Given the description of an element on the screen output the (x, y) to click on. 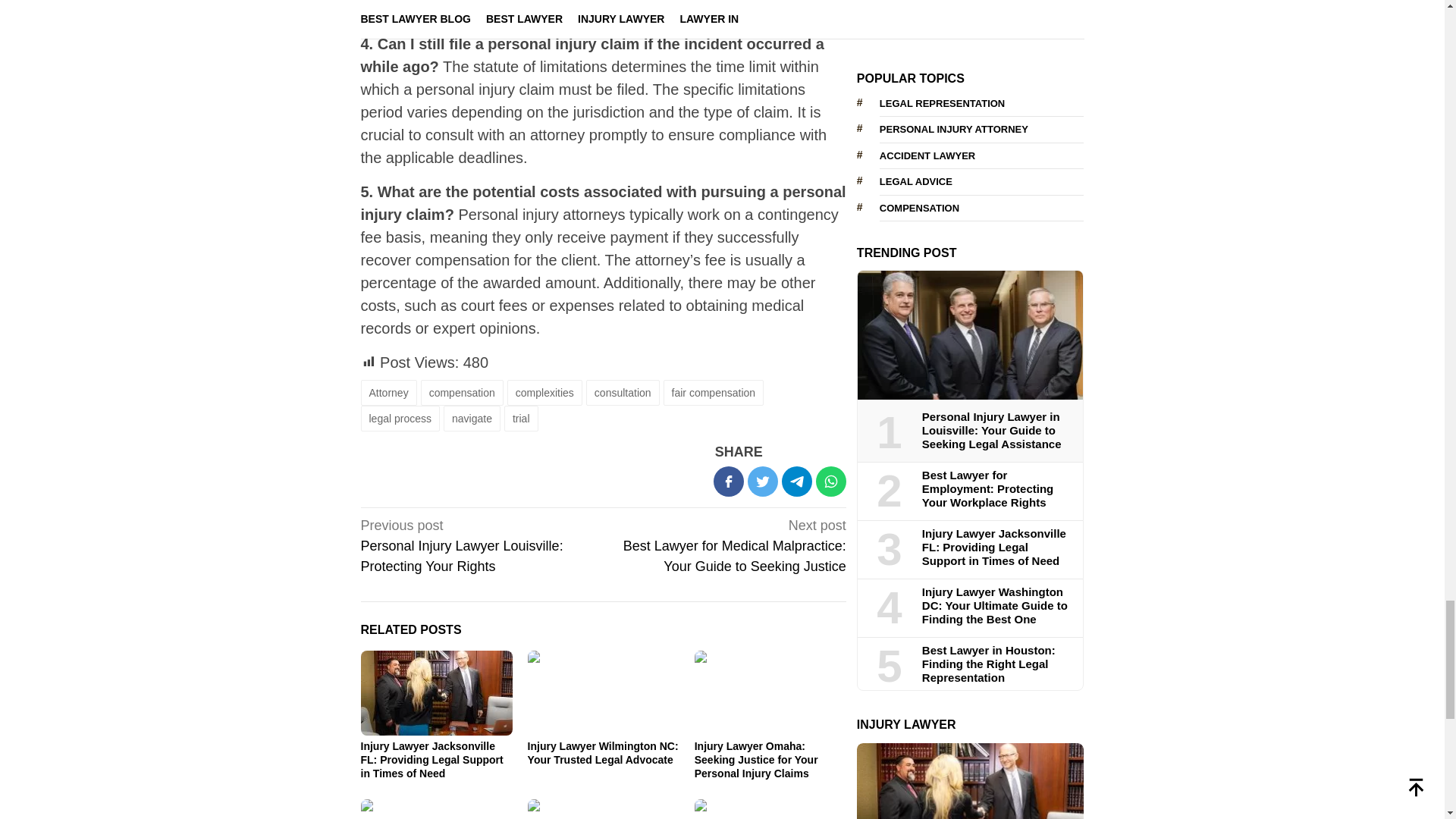
complexities (544, 392)
Attorney (388, 392)
compensation (461, 392)
